Given the description of an element on the screen output the (x, y) to click on. 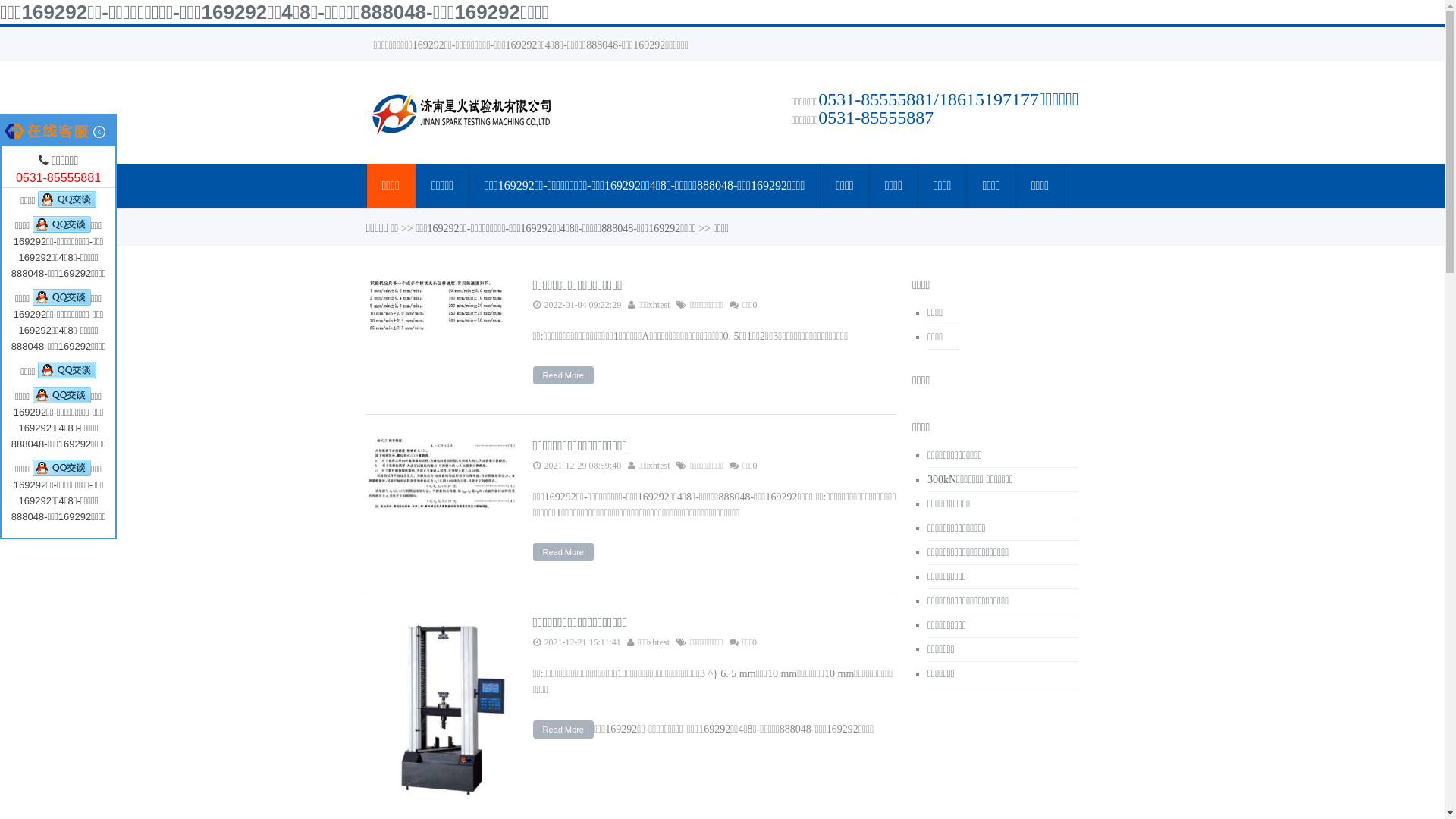
Read More Element type: text (562, 729)
Read More Element type: text (562, 375)
Read More Element type: text (562, 551)
